Given the description of an element on the screen output the (x, y) to click on. 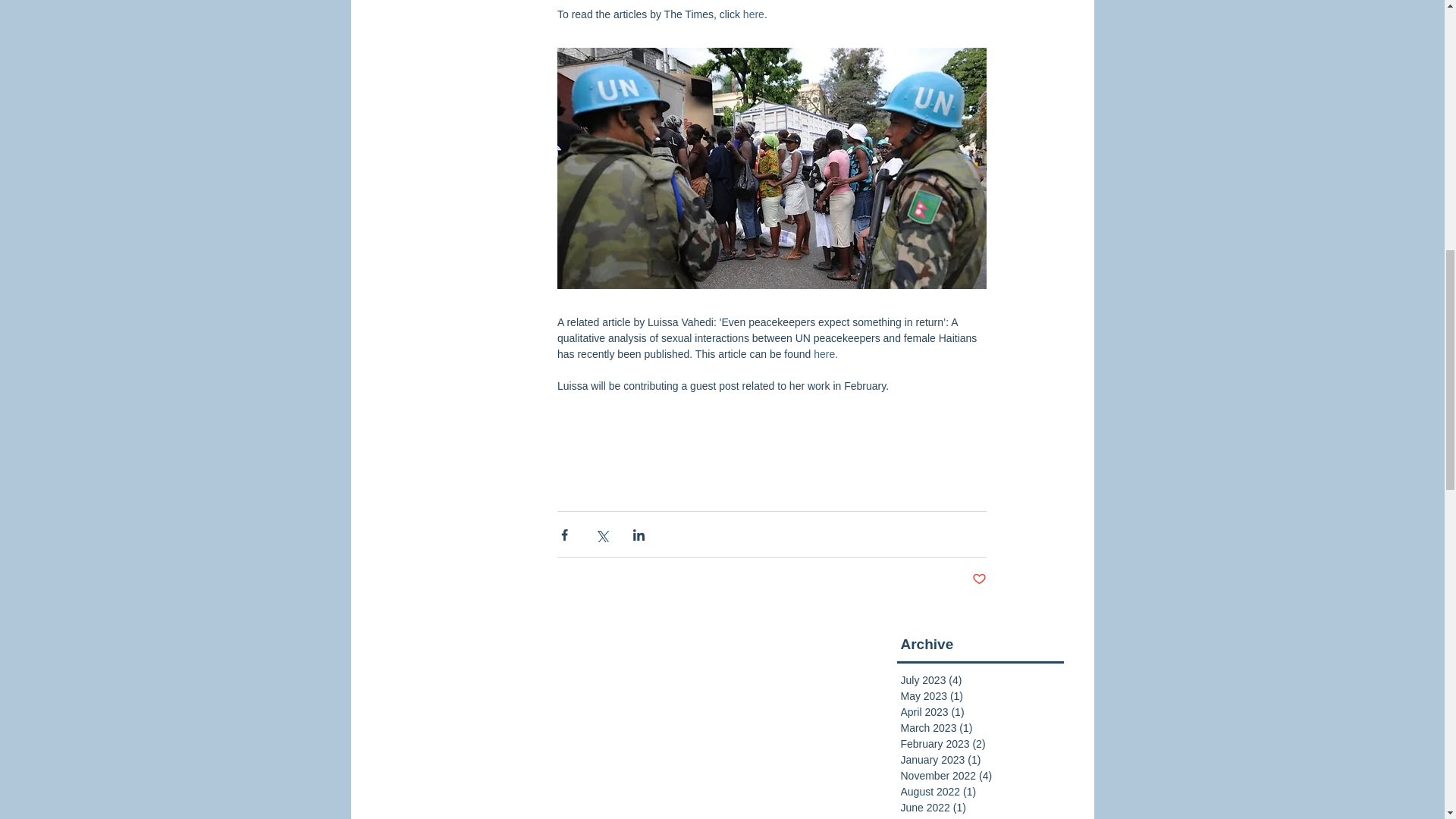
here. (825, 353)
here (752, 14)
Post not marked as liked (979, 579)
